Given the description of an element on the screen output the (x, y) to click on. 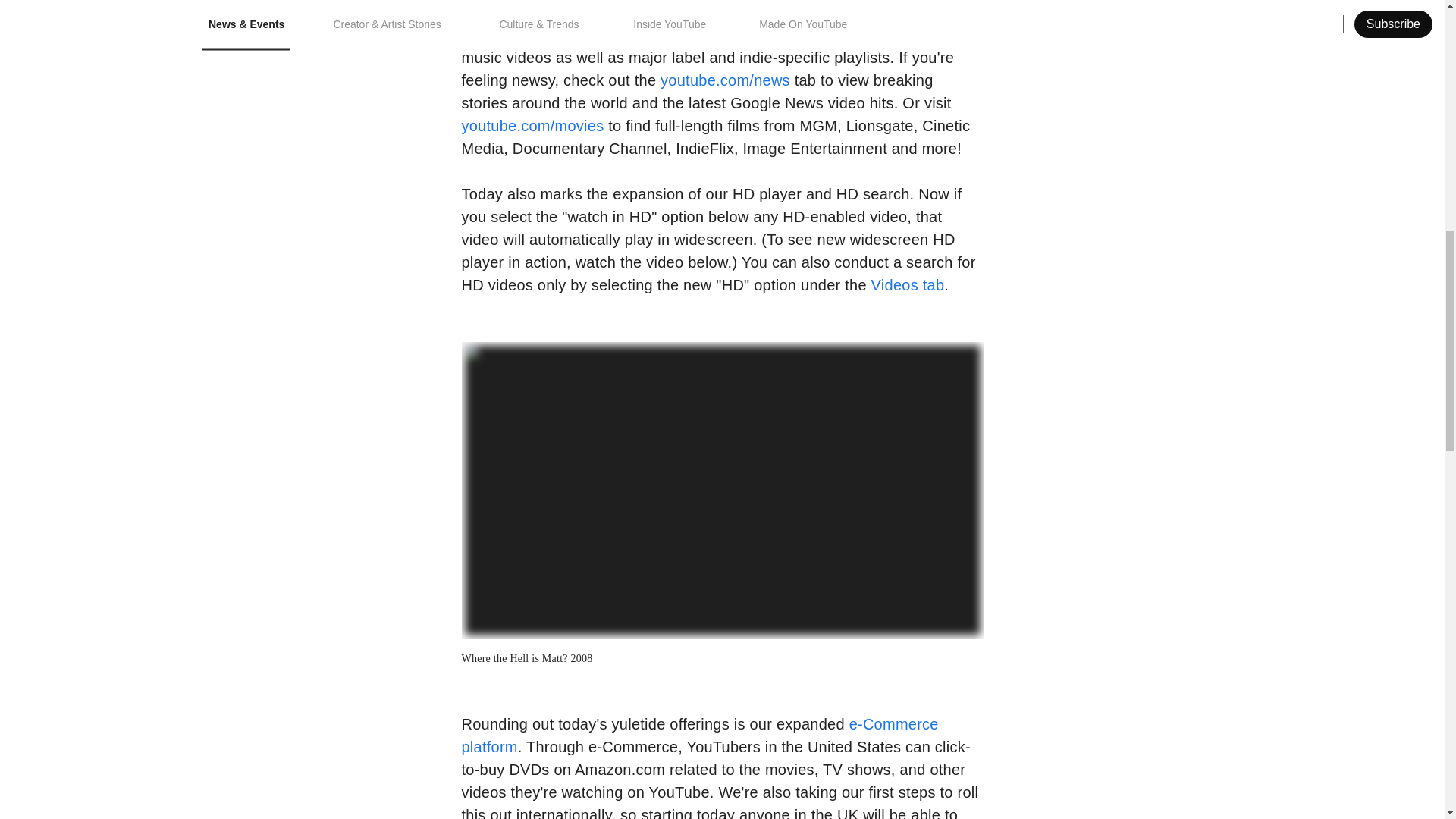
e-Commerce platform (699, 735)
Videos tab (907, 284)
